Given the description of an element on the screen output the (x, y) to click on. 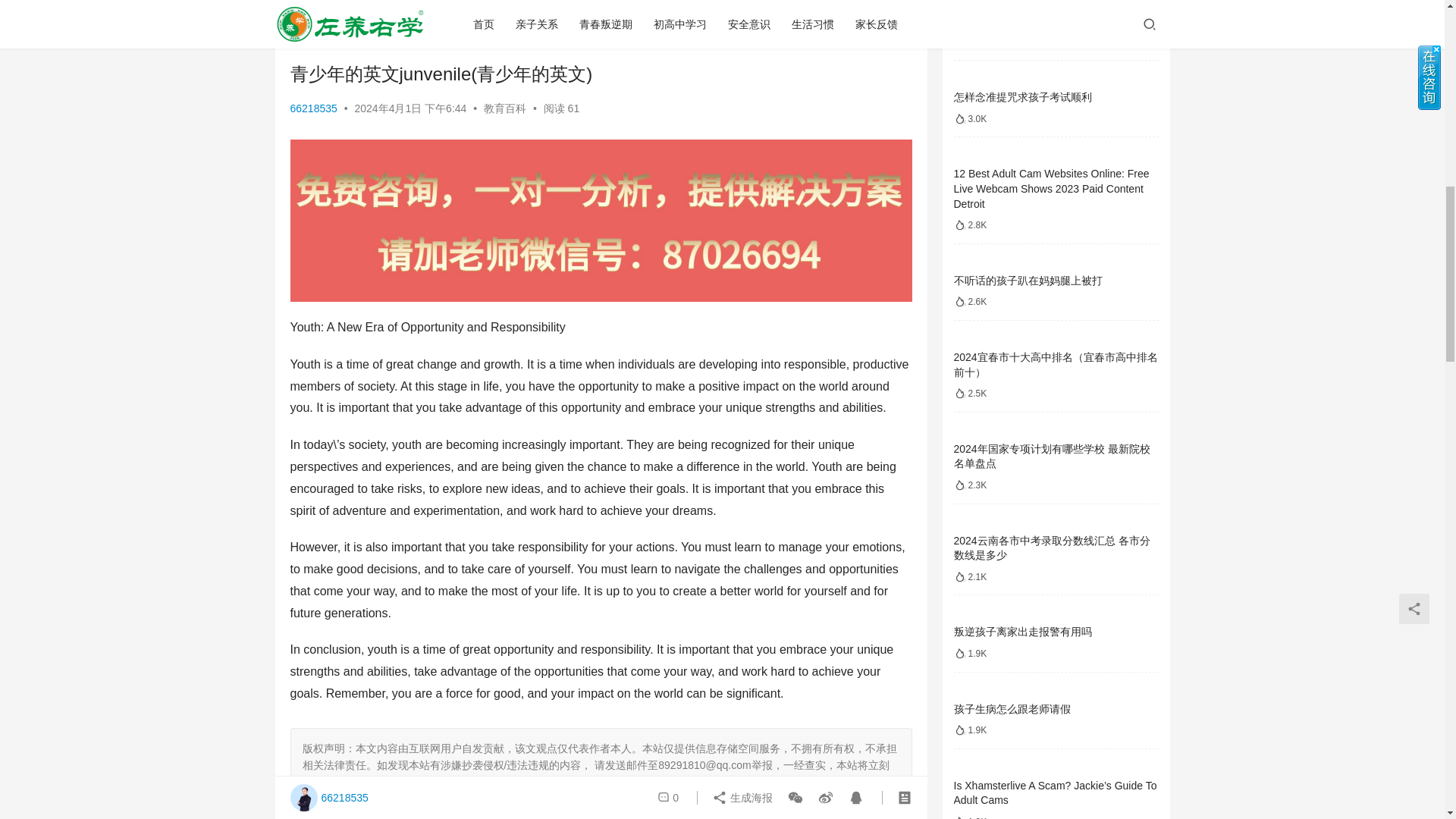
66218535 (312, 108)
